Given the description of an element on the screen output the (x, y) to click on. 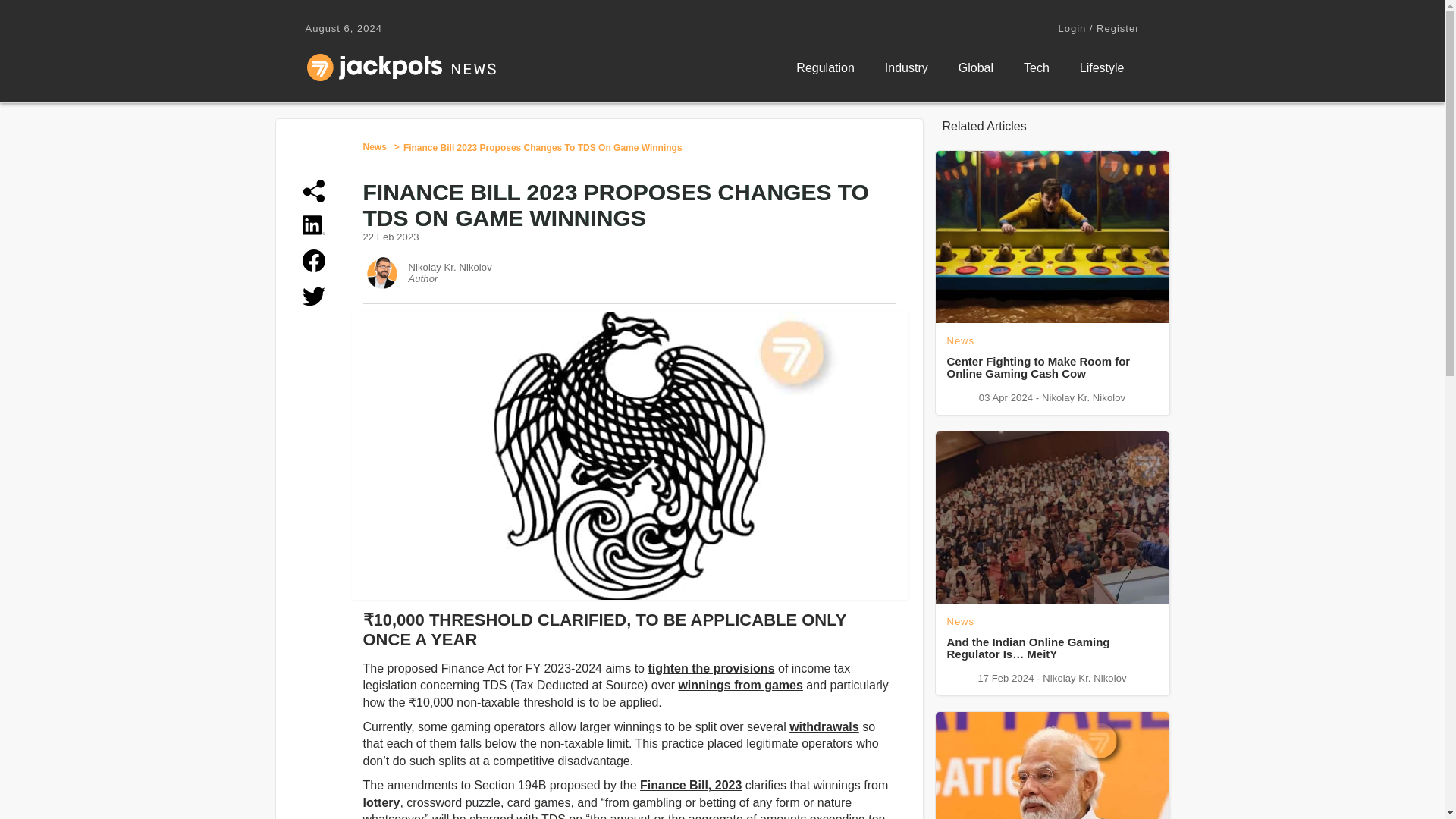
Lifestyle (1102, 67)
News (373, 146)
Global (976, 67)
Tech (1036, 67)
Regulation (824, 67)
Finance Bill 2023 Proposes Changes to TDS on Game Winnings (542, 147)
lottery (380, 802)
News (373, 146)
Industry (906, 67)
